Given the description of an element on the screen output the (x, y) to click on. 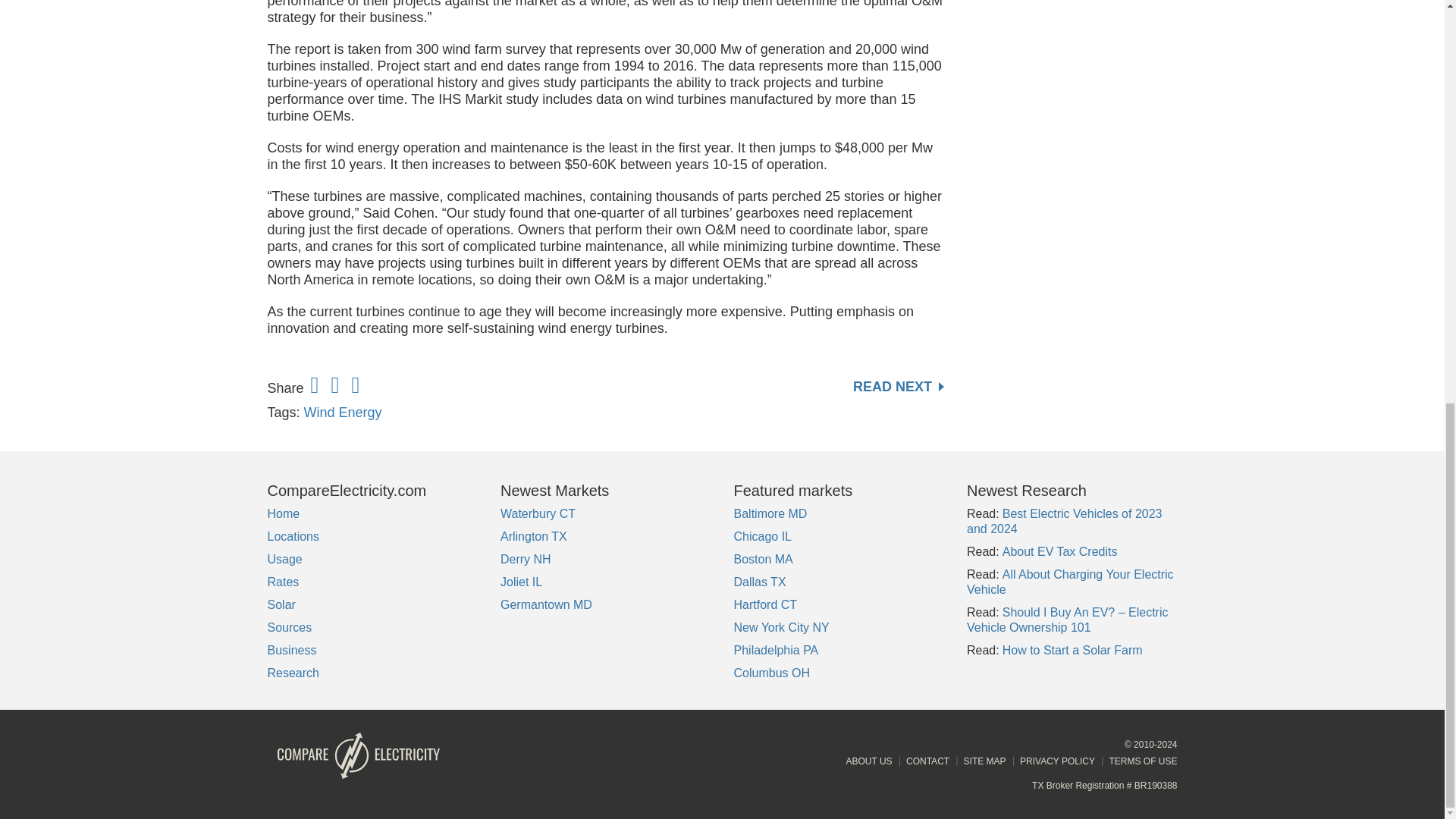
READ NEXT (898, 386)
CompareElectricity.com (371, 490)
Wind Energy (342, 412)
